Given the description of an element on the screen output the (x, y) to click on. 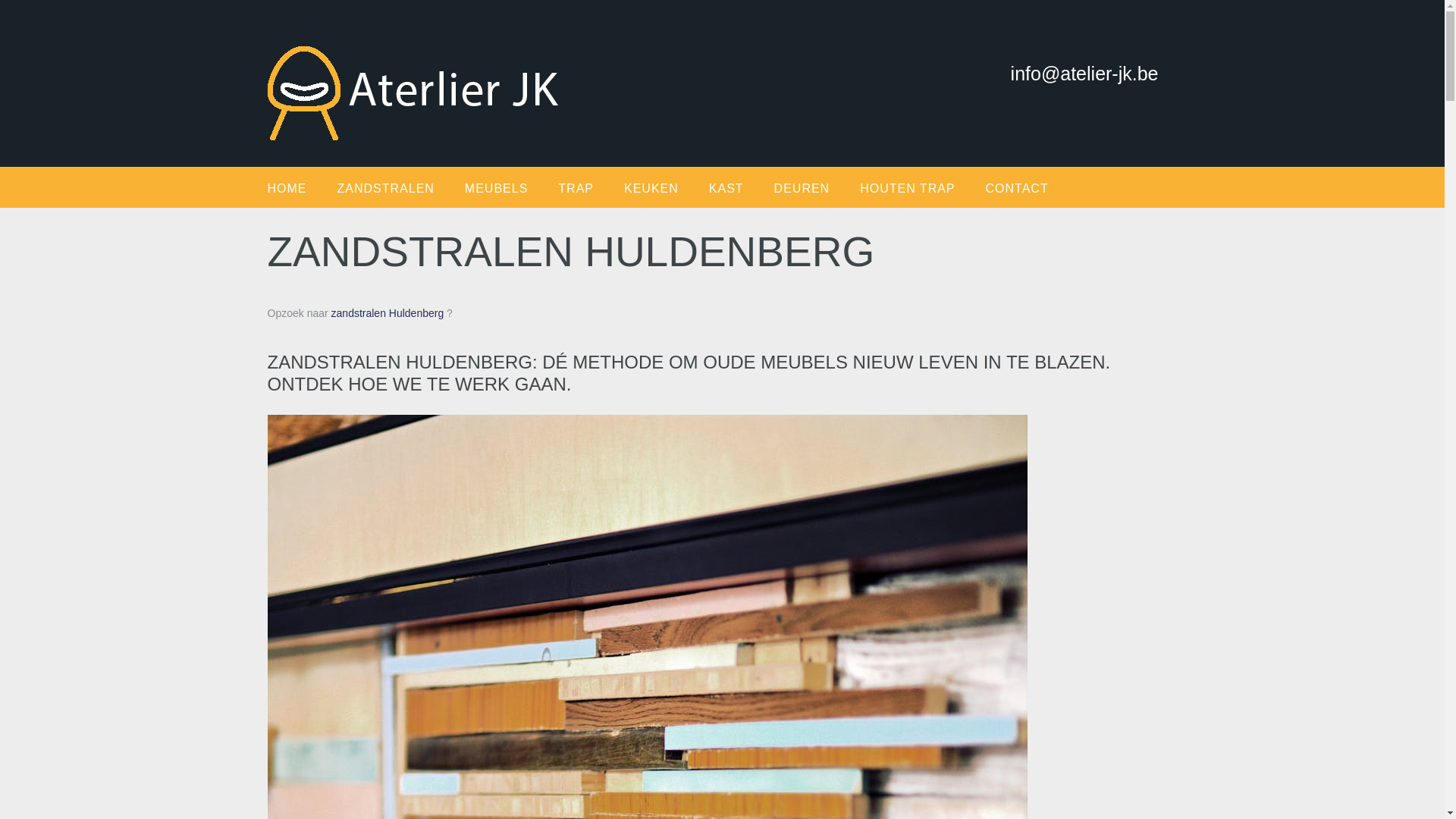
TRAP Element type: text (591, 188)
HOUTEN TRAP Element type: text (922, 188)
MEUBELS Element type: text (511, 188)
CONTACT Element type: text (1032, 188)
ZANDSTRALEN Element type: text (400, 188)
DEUREN Element type: text (817, 188)
KAST Element type: text (741, 188)
info@atelier-jk.be Element type: text (1093, 51)
HOME Element type: text (301, 188)
zandestralen meubels Element type: hover (427, 70)
KEUKEN Element type: text (666, 188)
zandestralen meubels Element type: hover (417, 92)
